Given the description of an element on the screen output the (x, y) to click on. 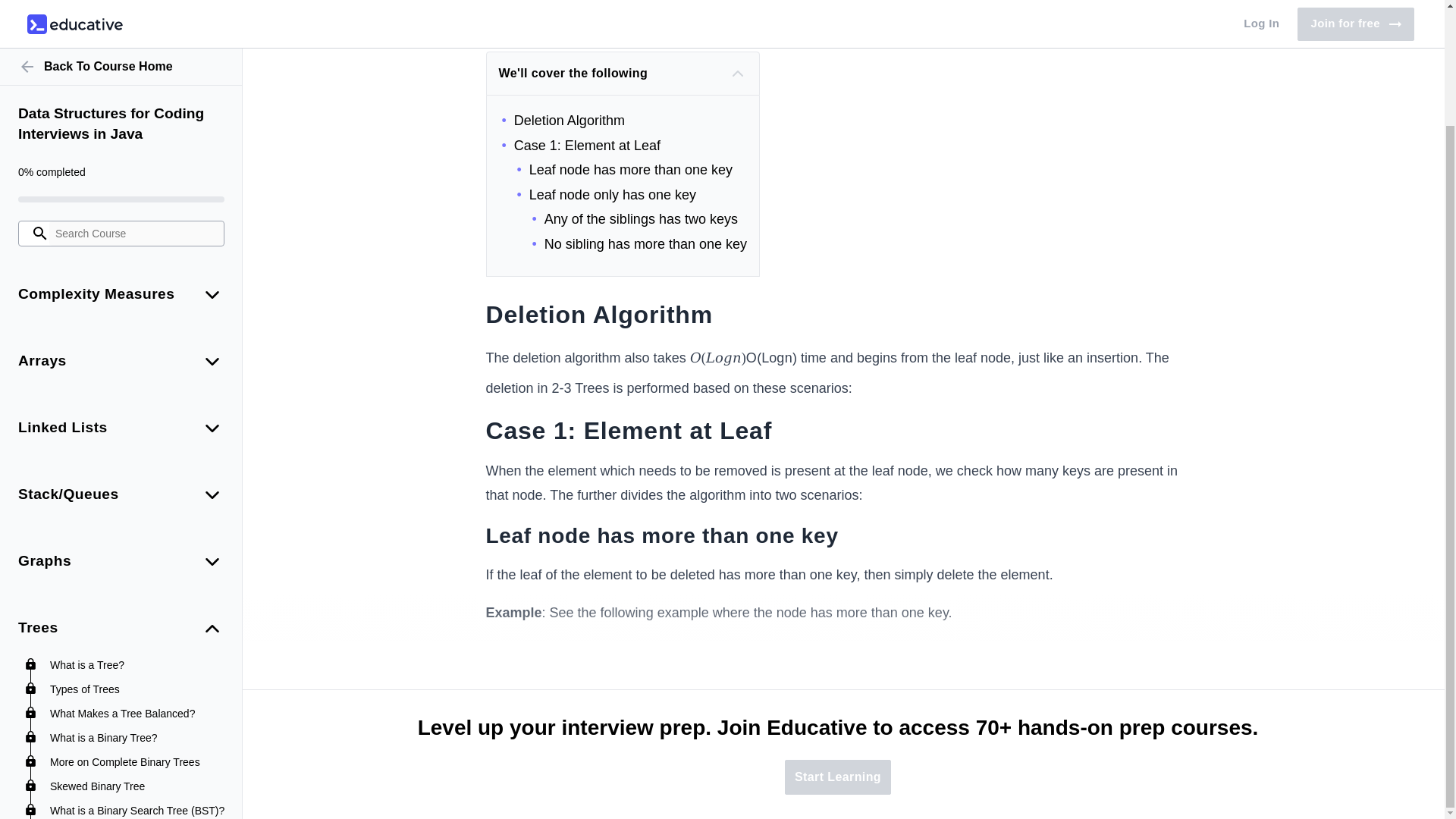
Data Structures for Coding Interviews in Java (121, 3)
